Given the description of an element on the screen output the (x, y) to click on. 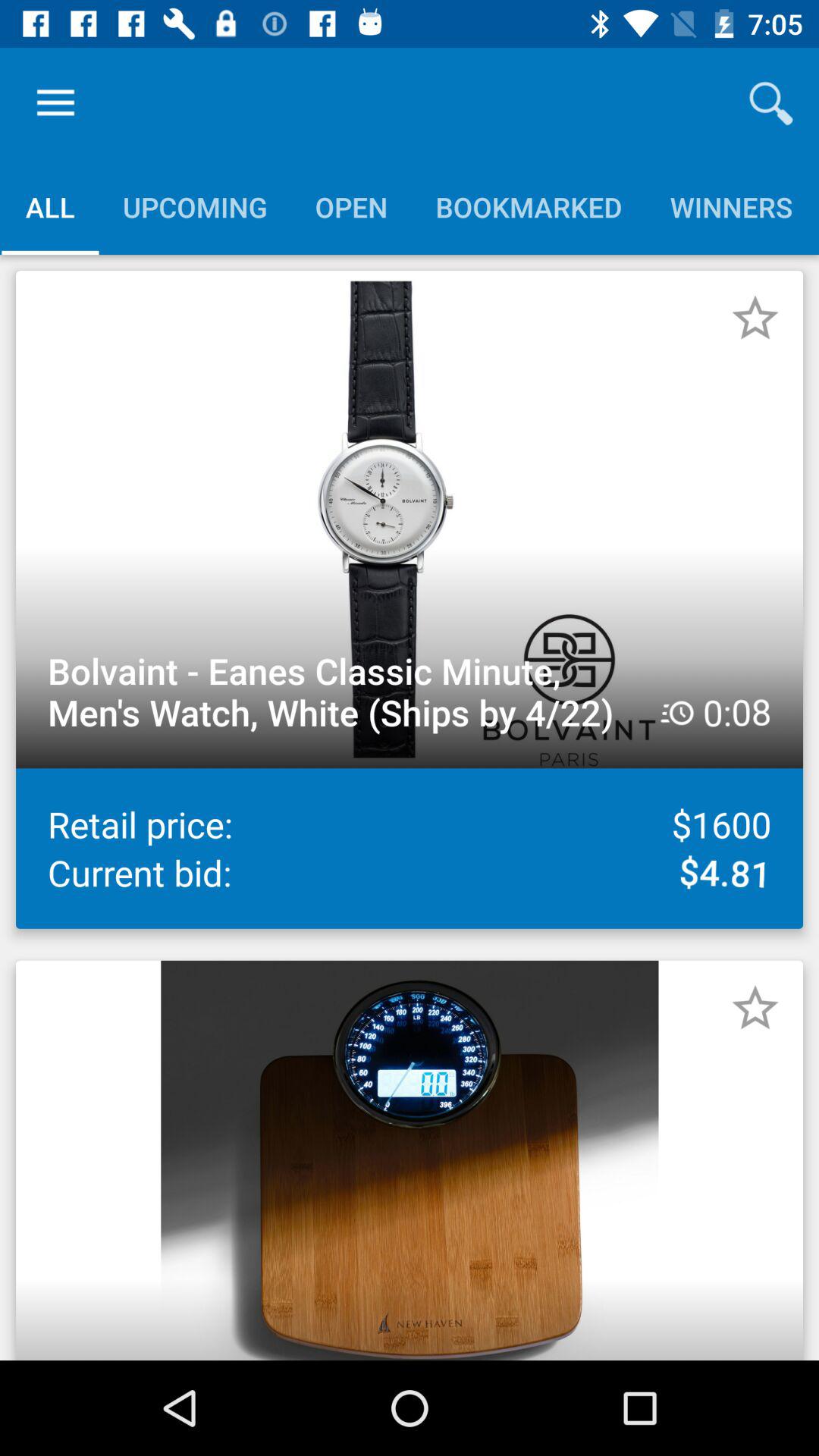
favorite item for later (755, 1008)
